Given the description of an element on the screen output the (x, y) to click on. 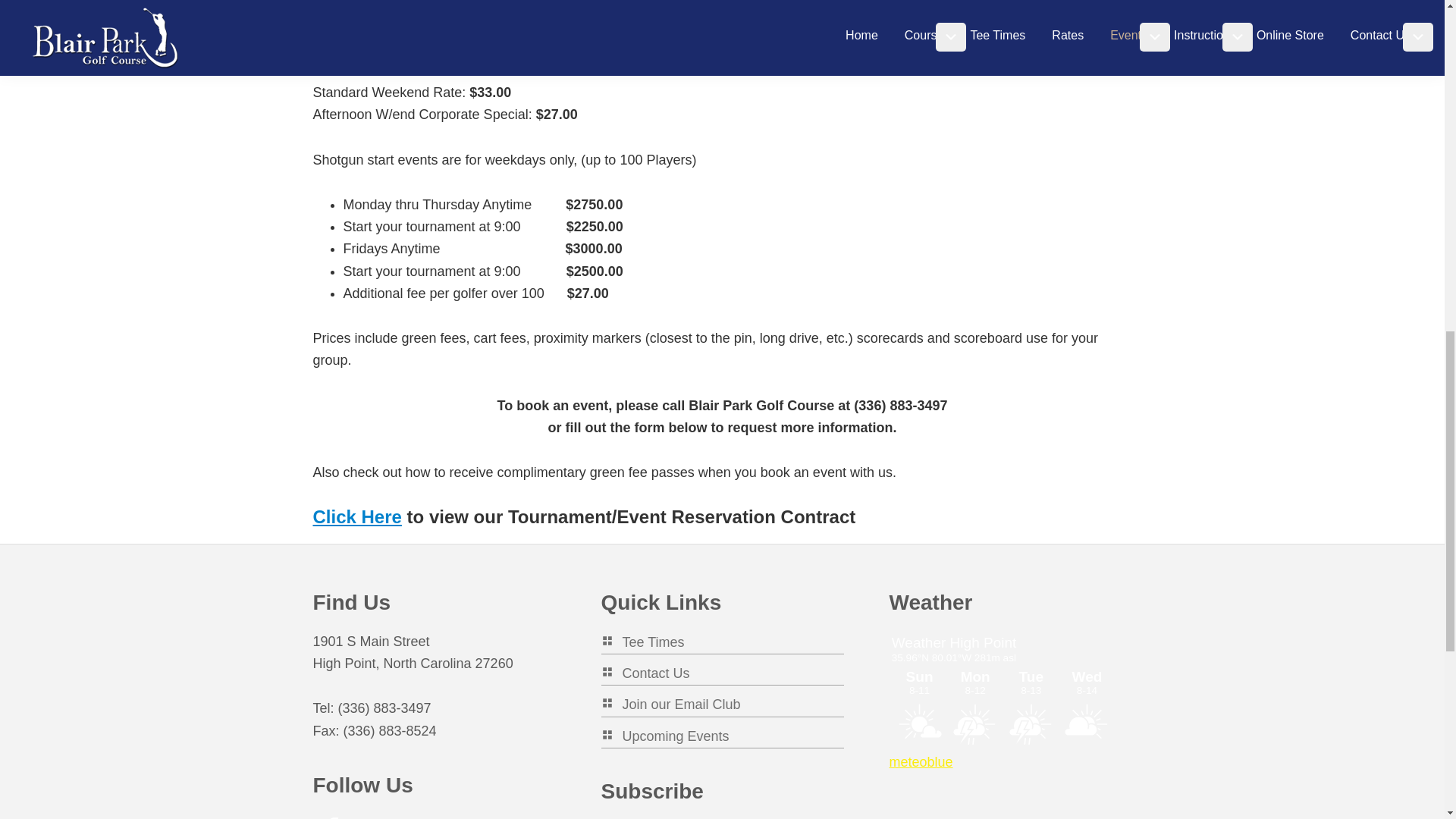
Tee Times (641, 642)
Join our Email Club (669, 703)
Click Here (357, 516)
Upcoming Events (664, 735)
Contact Us (643, 672)
